Given the description of an element on the screen output the (x, y) to click on. 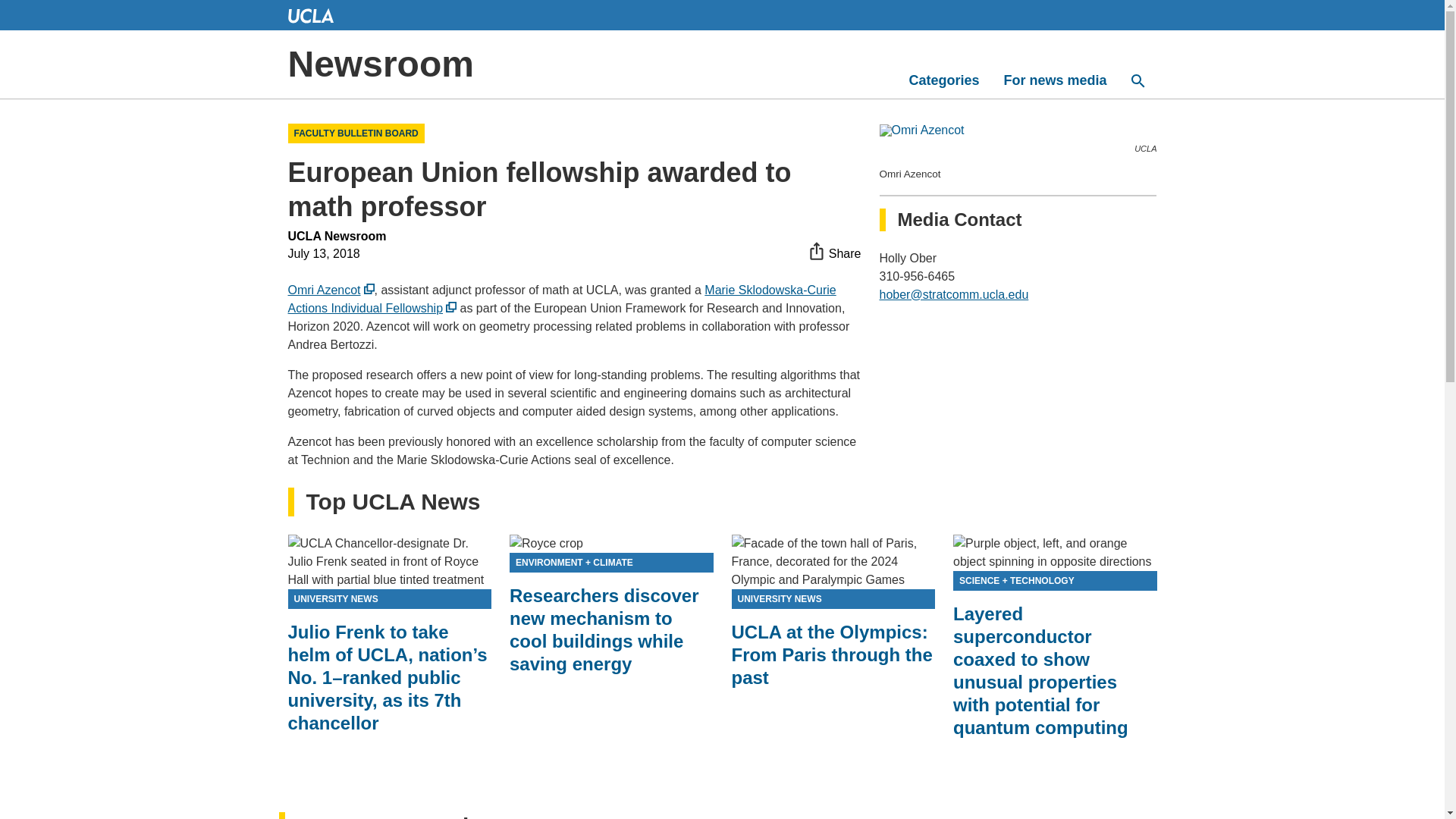
Toggle search (1138, 80)
Newsroom (381, 64)
UCLA (310, 15)
For news media (1054, 79)
Share (833, 251)
FACULTY BULLETIN BOARD (356, 133)
Categories (943, 79)
